Given the description of an element on the screen output the (x, y) to click on. 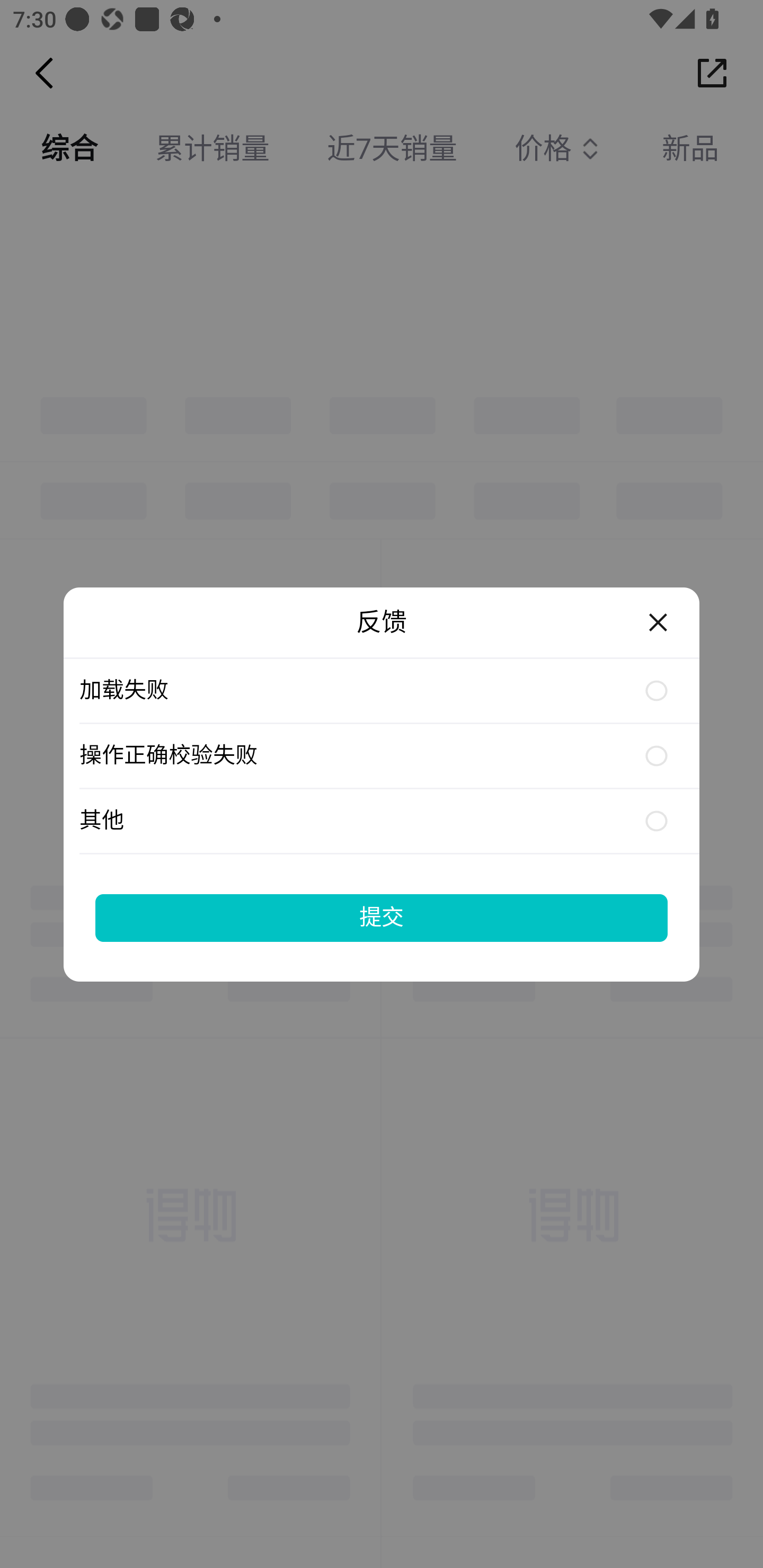
提交 (381, 917)
